Given the description of an element on the screen output the (x, y) to click on. 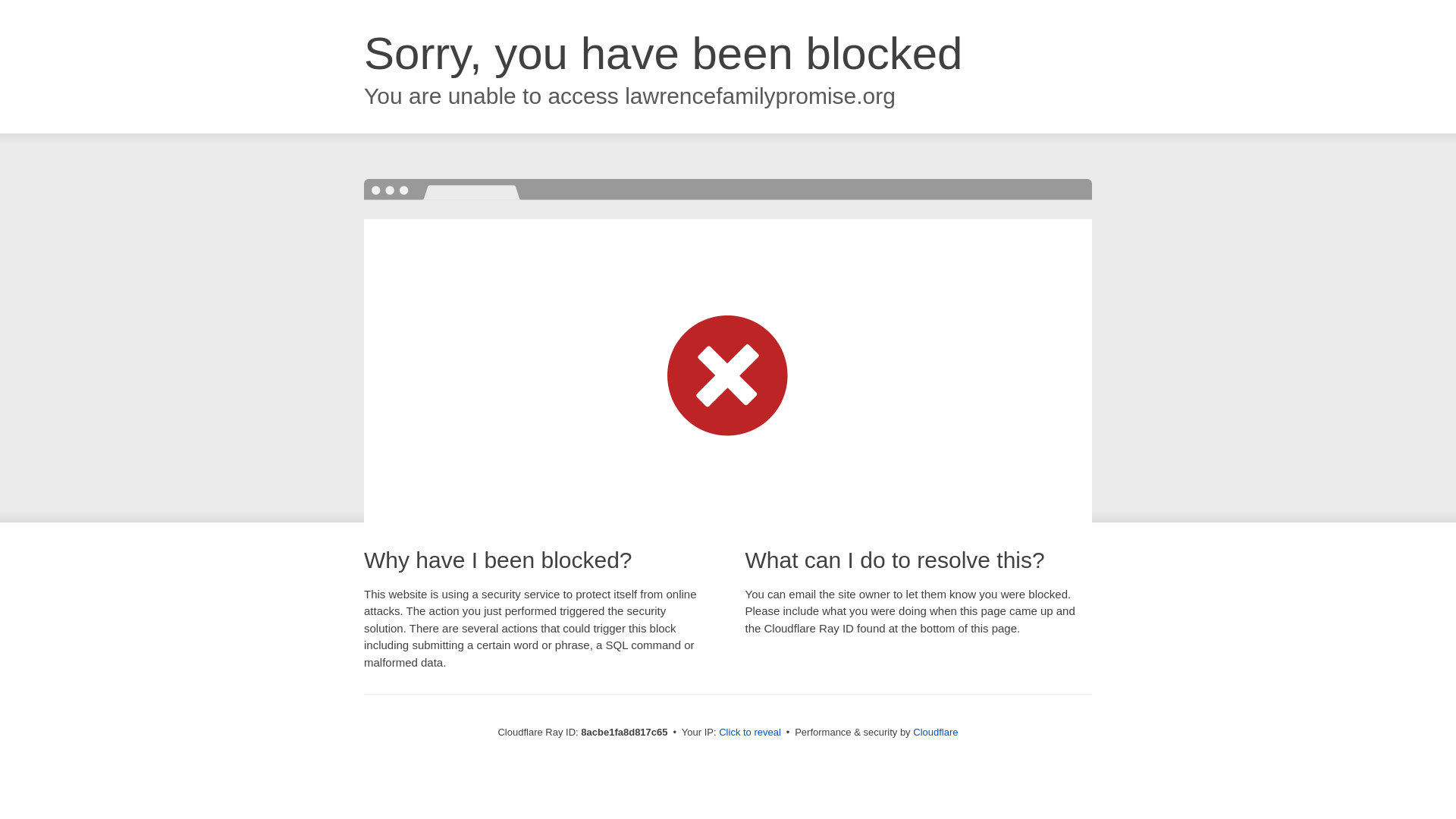
Click to reveal (749, 732)
Cloudflare (935, 731)
